Given the description of an element on the screen output the (x, y) to click on. 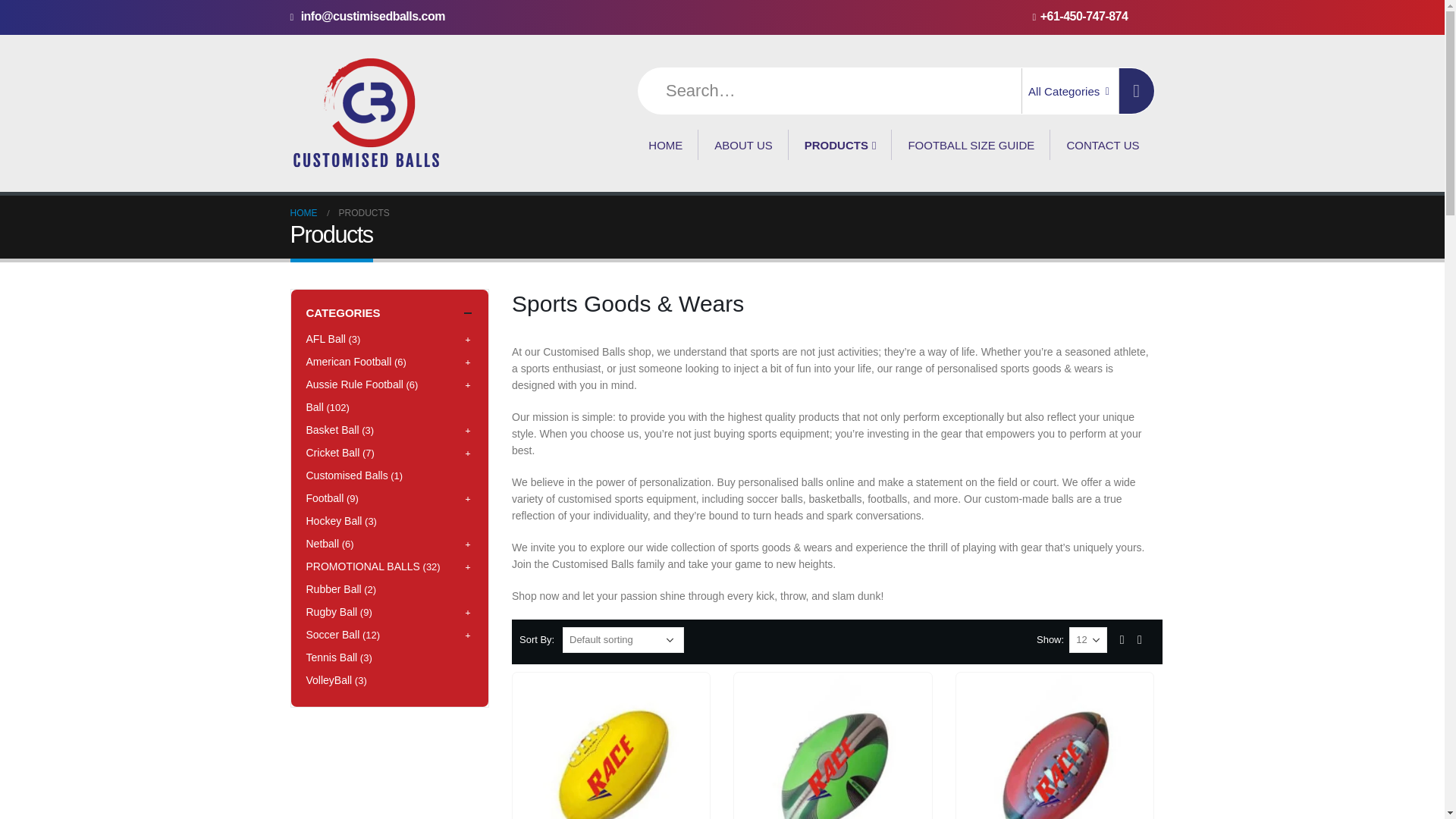
CONTACT US (1102, 144)
Customised Balls - Customised Ball With Your Logo (365, 113)
Grid View (1122, 639)
HOME (665, 144)
ABOUT US (742, 144)
FOOTBALL SIZE GUIDE (970, 144)
List View (1139, 639)
Go to Home Page (303, 212)
PRODUCTS (840, 144)
